Given the description of an element on the screen output the (x, y) to click on. 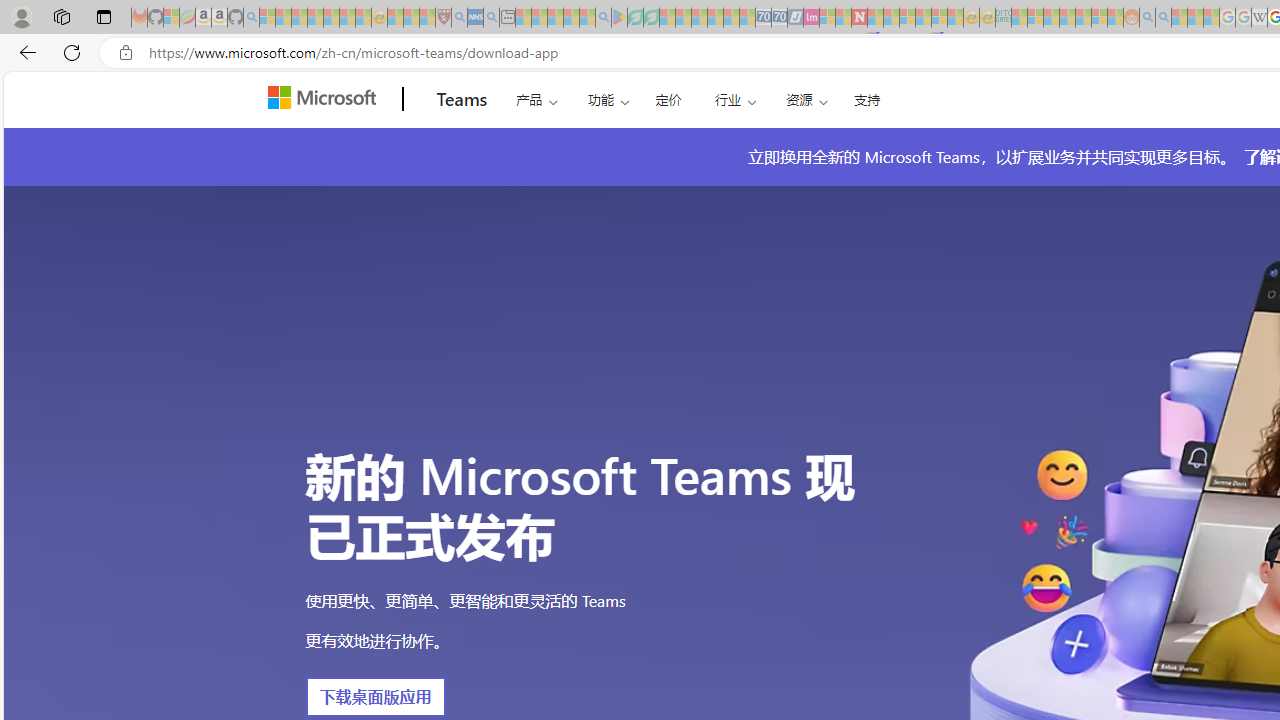
Microsoft (326, 99)
New Report Confirms 2023 Was Record Hot | Watch - Sleeping (331, 17)
Kinda Frugal - MSN - Sleeping (1083, 17)
Utah sues federal government - Search - Sleeping (1163, 17)
Jobs - lastminute.com Investor Portal - Sleeping (811, 17)
